Given the description of an element on the screen output the (x, y) to click on. 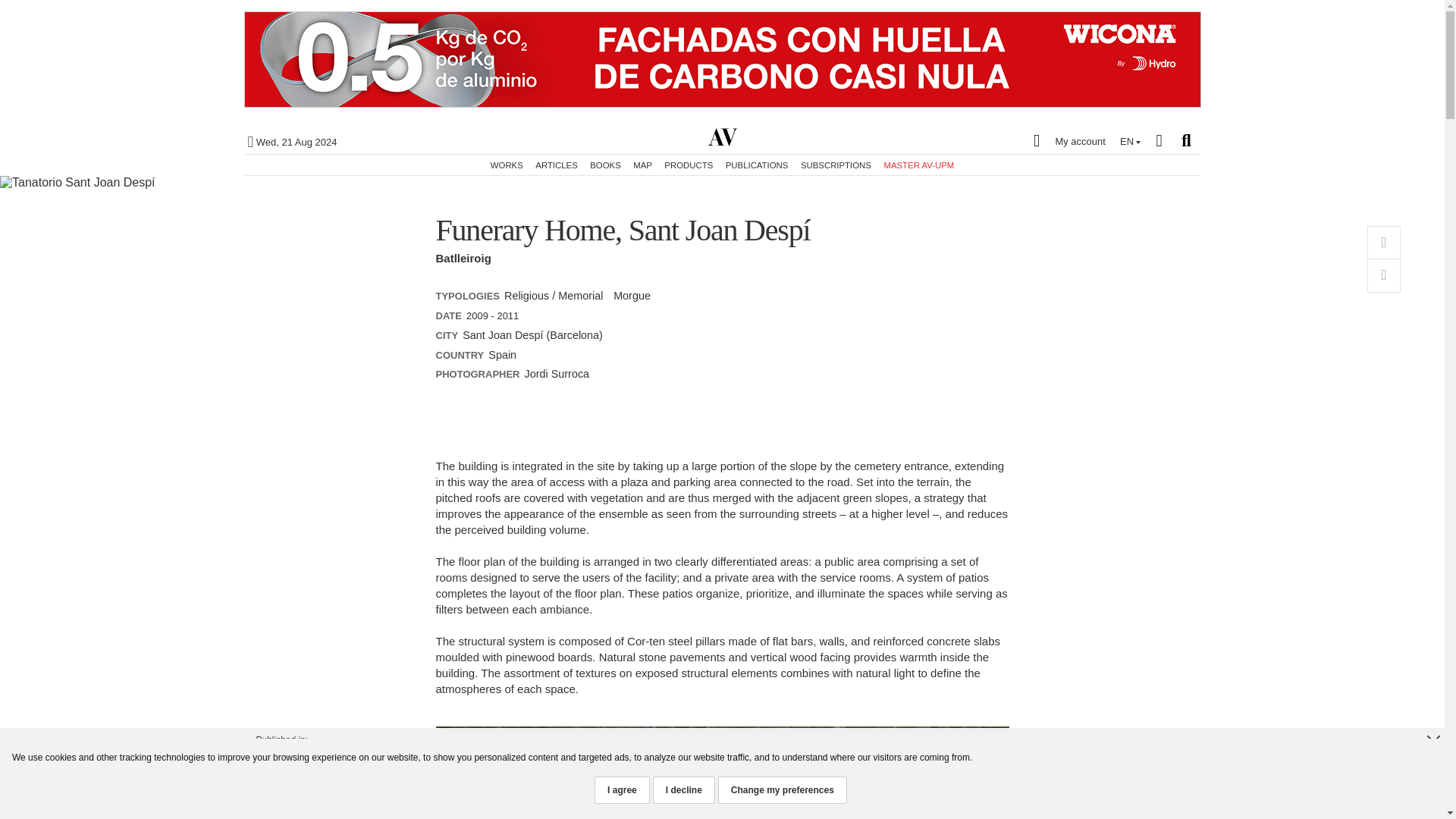
My account (1065, 139)
Share this content (1383, 275)
I decline (683, 789)
Search (1185, 140)
Change my preferences (782, 789)
I agree (621, 789)
Add to favoites (1383, 242)
